Given the description of an element on the screen output the (x, y) to click on. 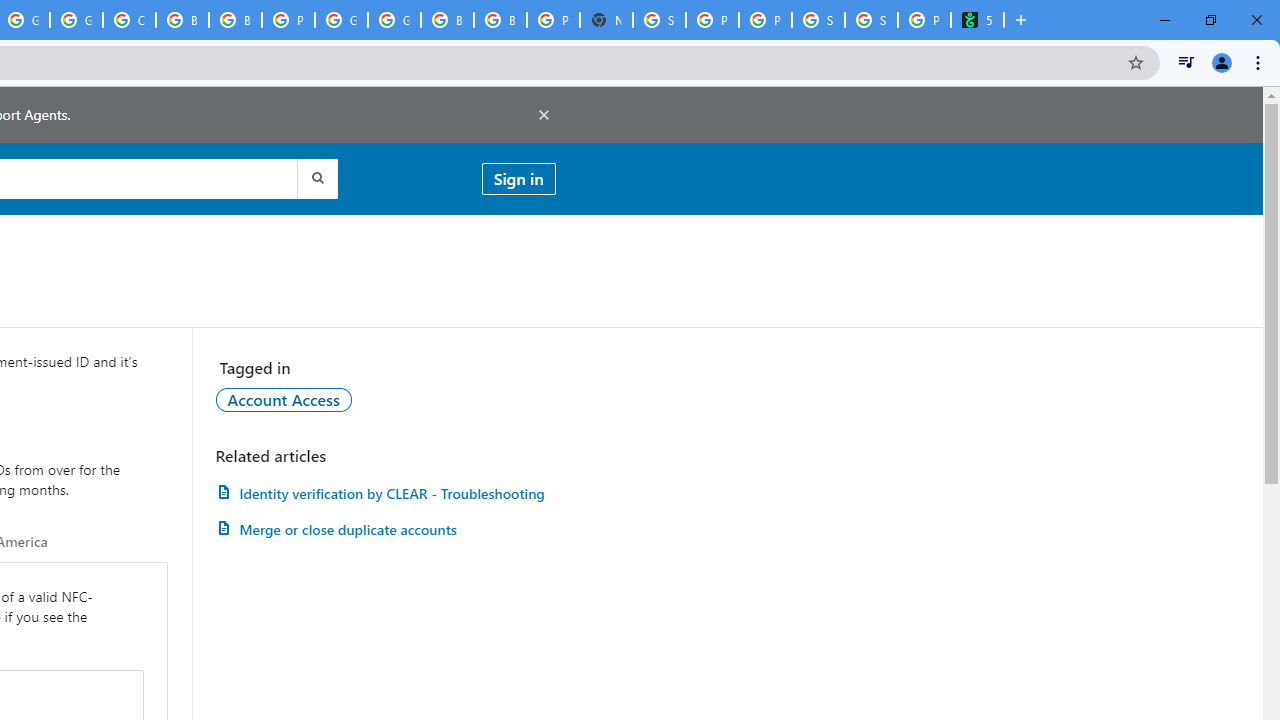
Merge or close duplicate accounts (385, 529)
Google Cloud Platform (341, 20)
Bookmark this tab (1135, 62)
Browse Chrome as a guest - Computer - Google Chrome Help (235, 20)
